Given the description of an element on the screen output the (x, y) to click on. 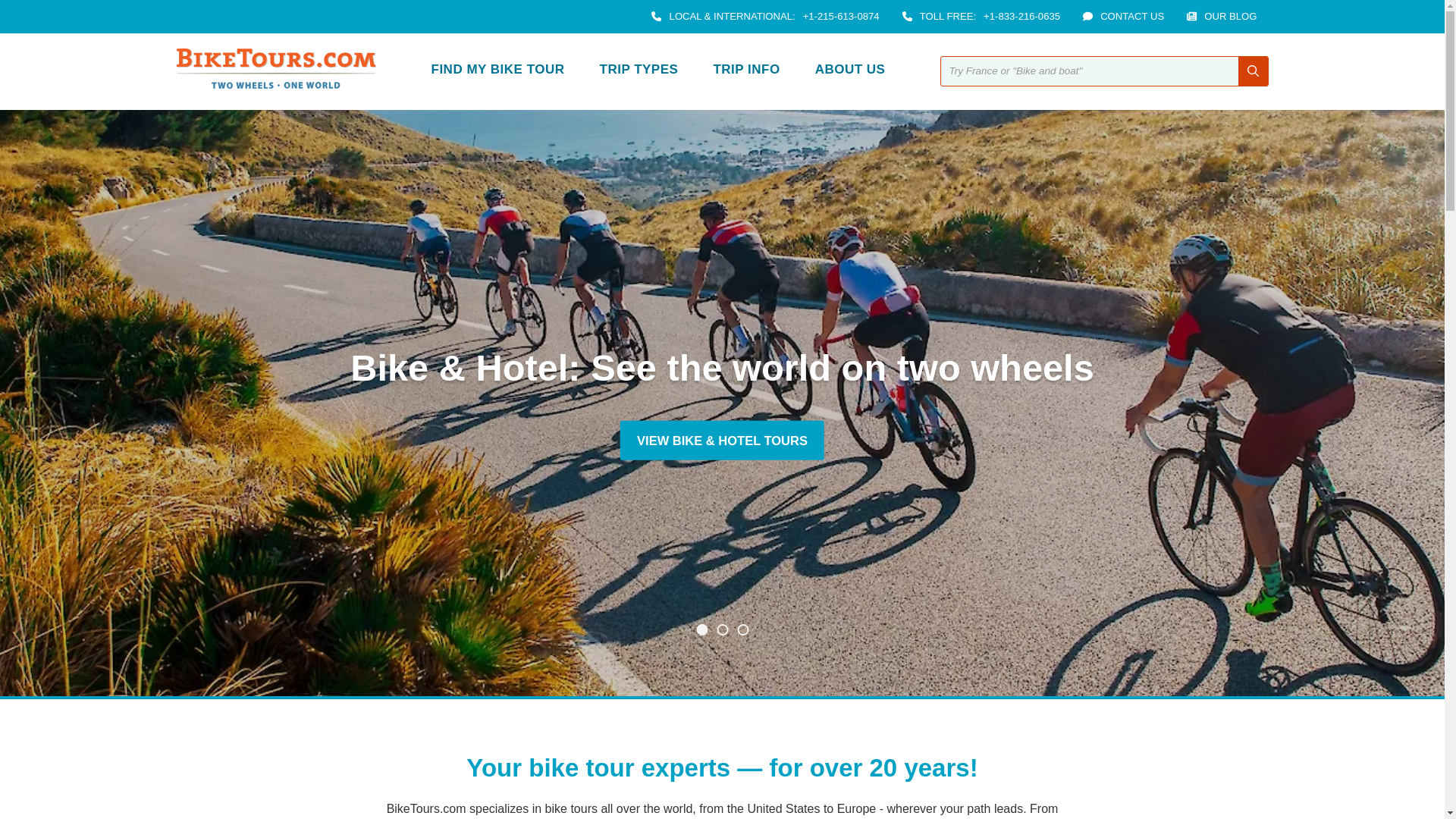
FIND MY BIKE TOUR (498, 70)
CONTACT US (1131, 16)
OUR BLOG (1230, 16)
